Given the description of an element on the screen output the (x, y) to click on. 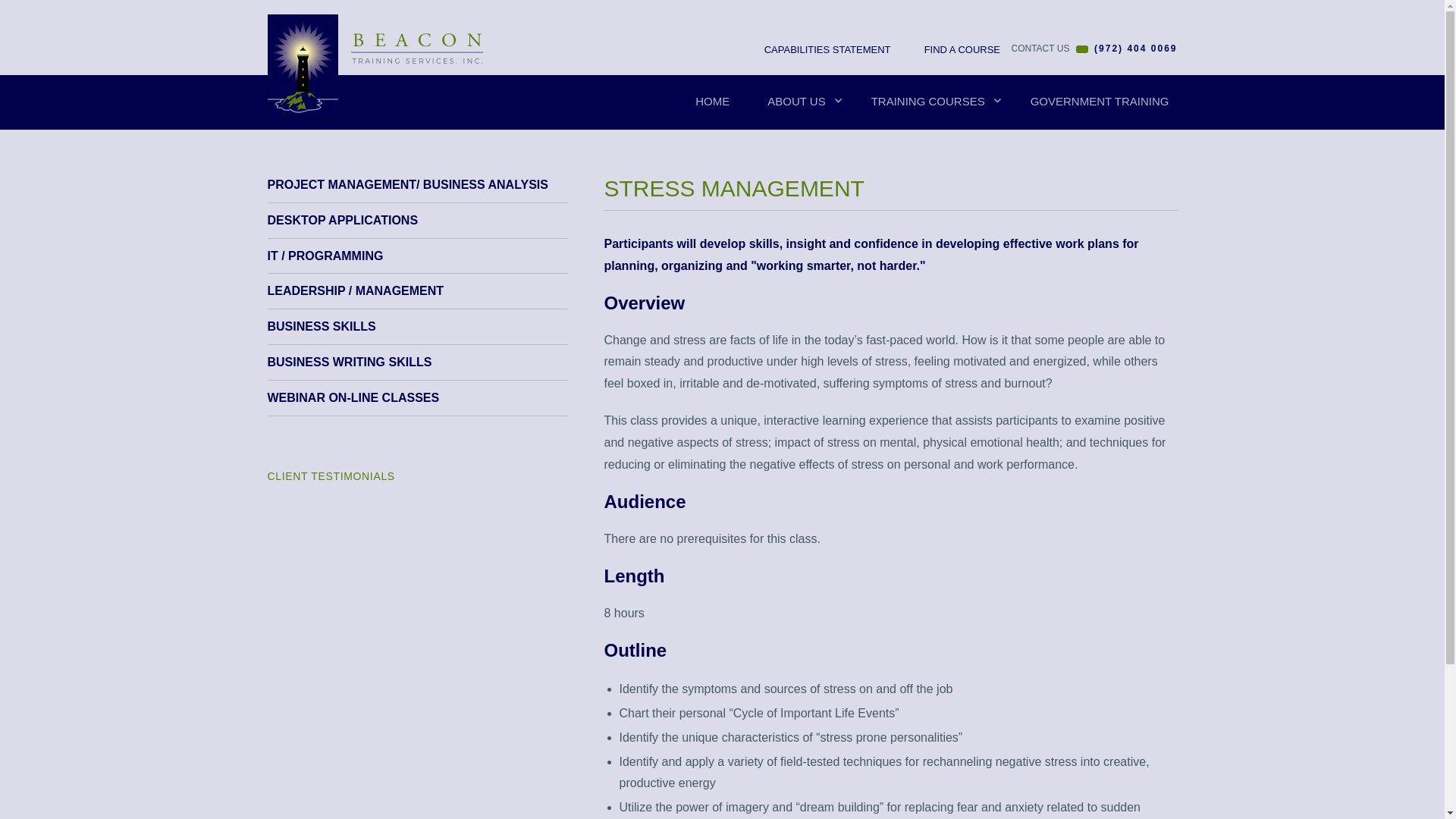
ABOUT US (798, 102)
FIND A COURSE (954, 49)
CAPABILITIES STATEMENT (819, 49)
TRAINING COURSES (931, 102)
GOVERNMENT TRAINING (1099, 102)
CONTACT US (1040, 48)
